Given the description of an element on the screen output the (x, y) to click on. 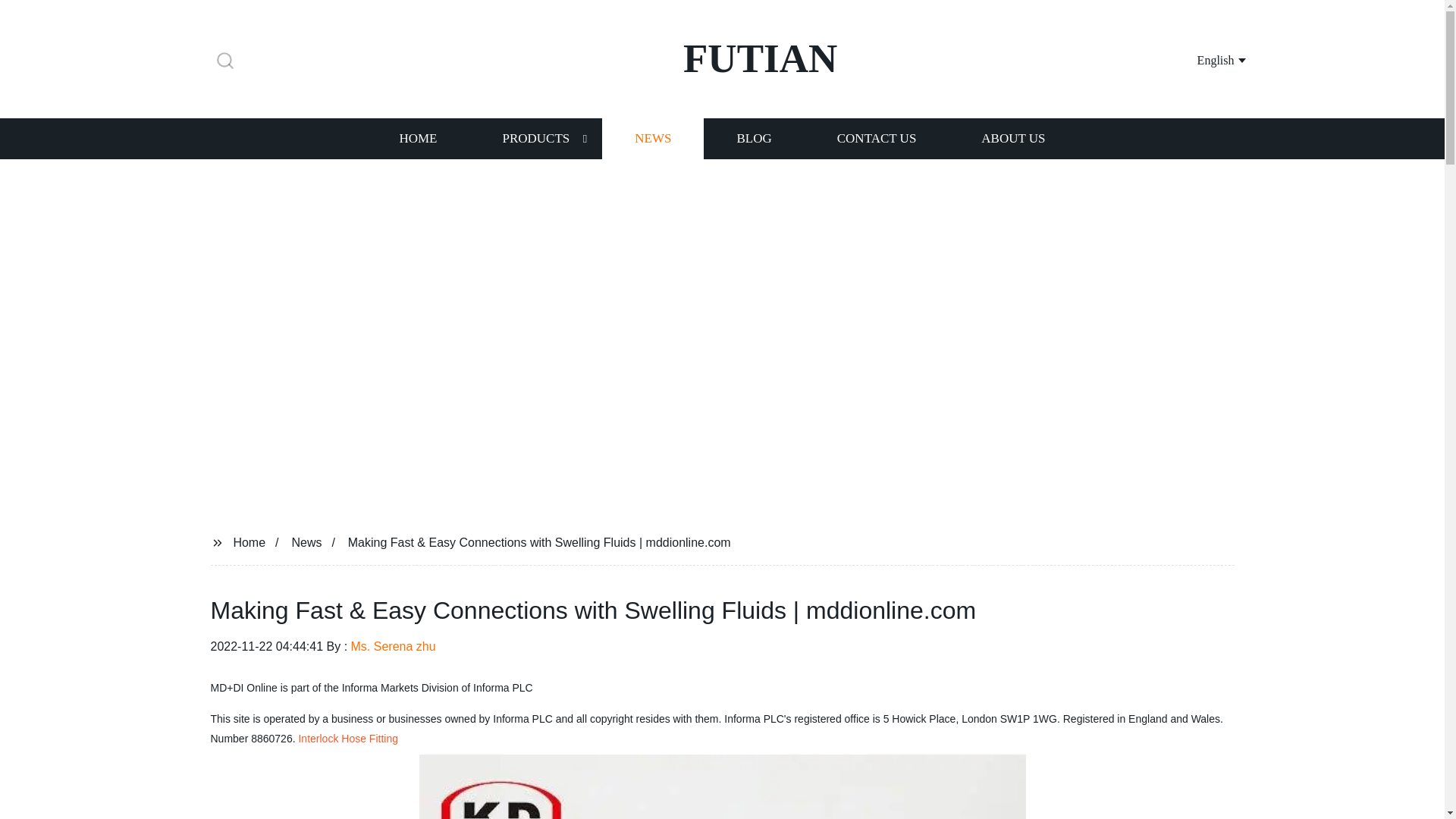
Home (248, 541)
English (1203, 59)
BLOG (753, 137)
English (1203, 59)
NEWS (652, 137)
ABOUT US (1013, 137)
PRODUCTS (535, 137)
CONTACT US (877, 137)
Interlock Hose Fitting (347, 738)
HOME (417, 137)
News (306, 541)
